Given the description of an element on the screen output the (x, y) to click on. 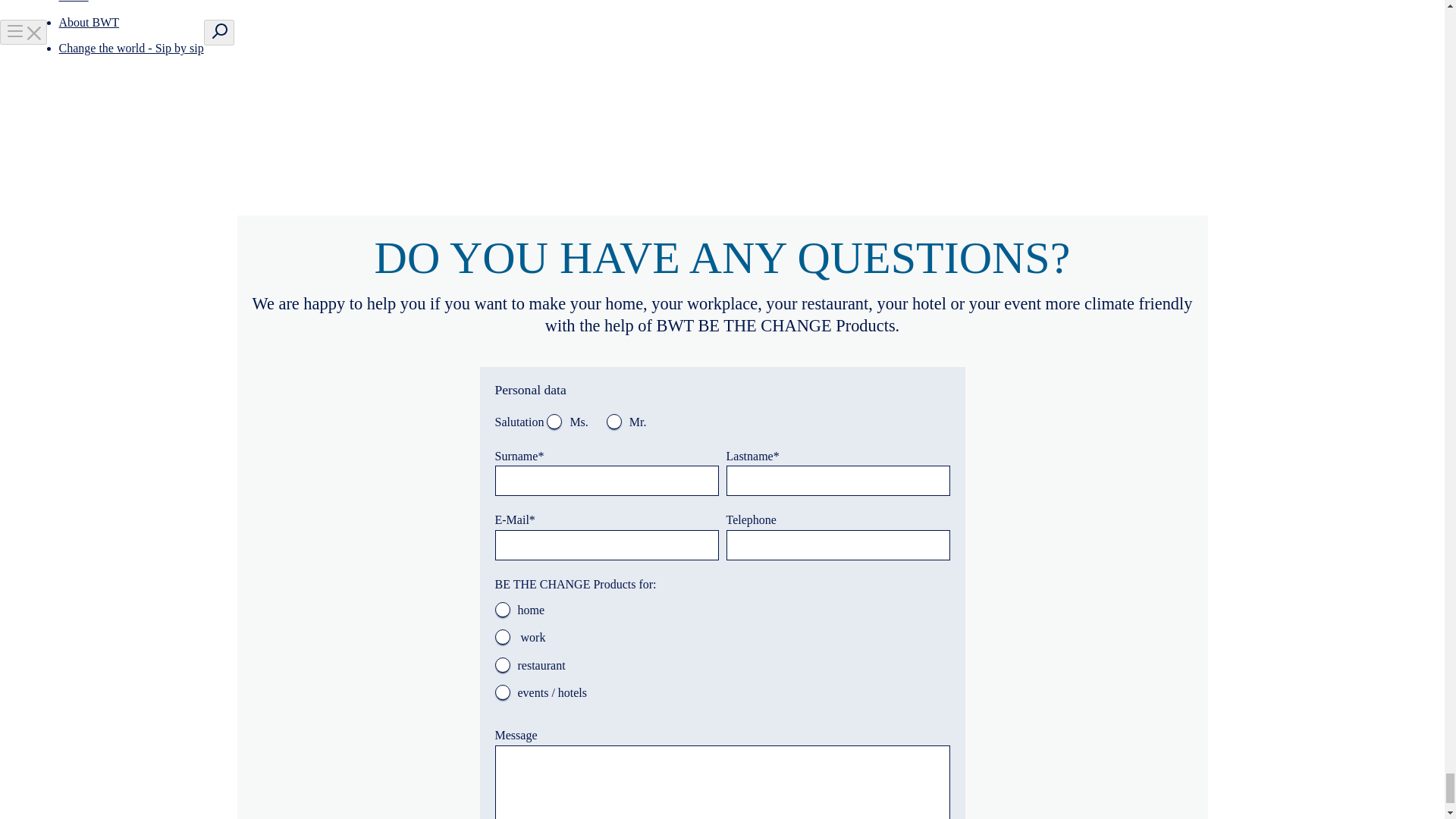
restaurant (502, 664)
 work (502, 636)
Ms. (554, 421)
Mr. (614, 421)
home (502, 609)
